Given the description of an element on the screen output the (x, y) to click on. 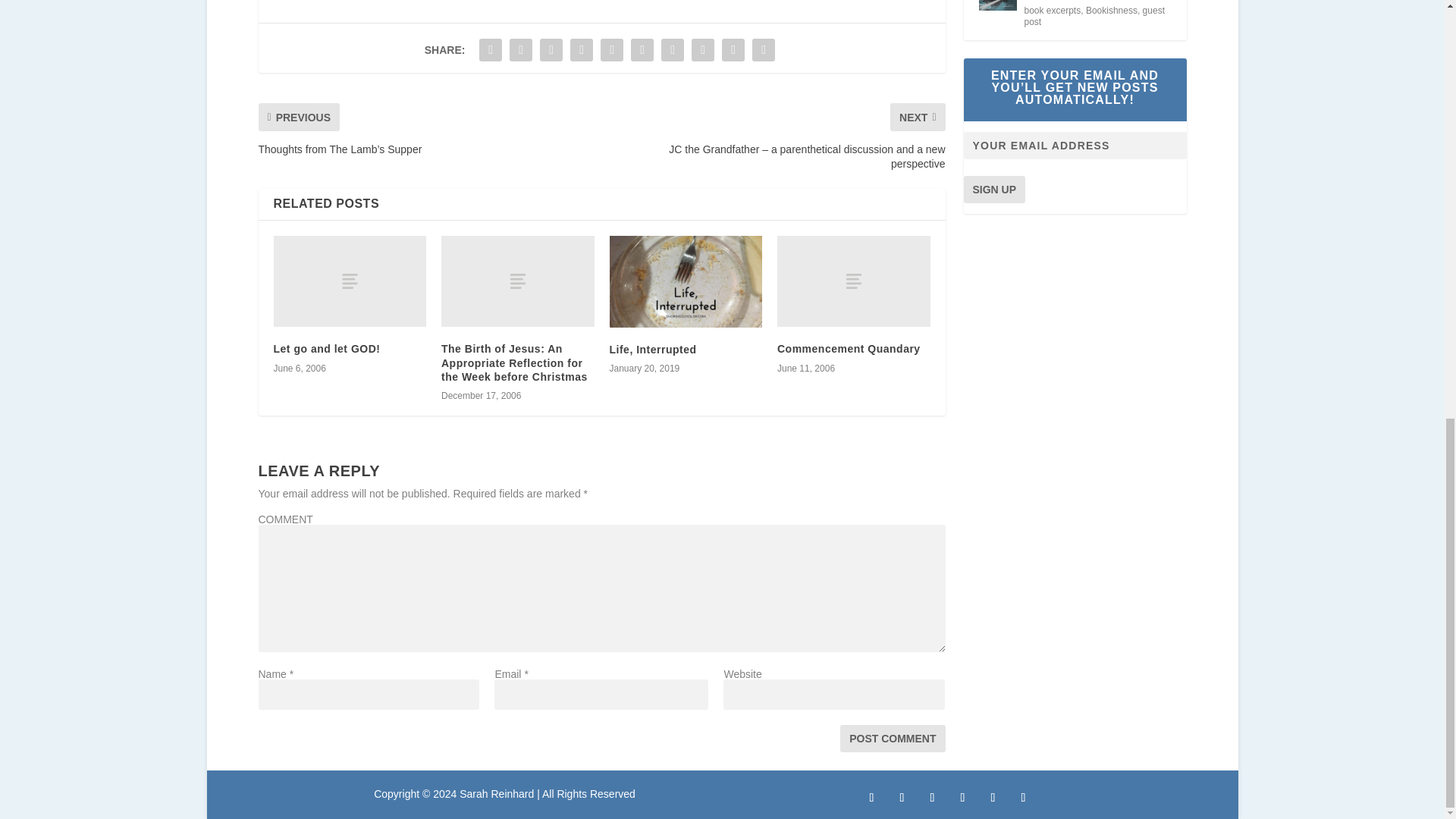
Share "Confession and Exercise" via Stumbleupon (702, 50)
Post Comment (892, 738)
Share "Confession and Exercise" via Email (732, 50)
Share "Confession and Exercise" via Facebook (490, 50)
Let go and let GOD! (326, 348)
Share "Confession and Exercise" via Pinterest (611, 50)
Share "Confession and Exercise" via Buffer (672, 50)
Share "Confession and Exercise" via LinkedIn (642, 50)
Share "Confession and Exercise" via Twitter (520, 50)
Share "Confession and Exercise" via Tumblr (581, 50)
Sign up (993, 189)
